Given the description of an element on the screen output the (x, y) to click on. 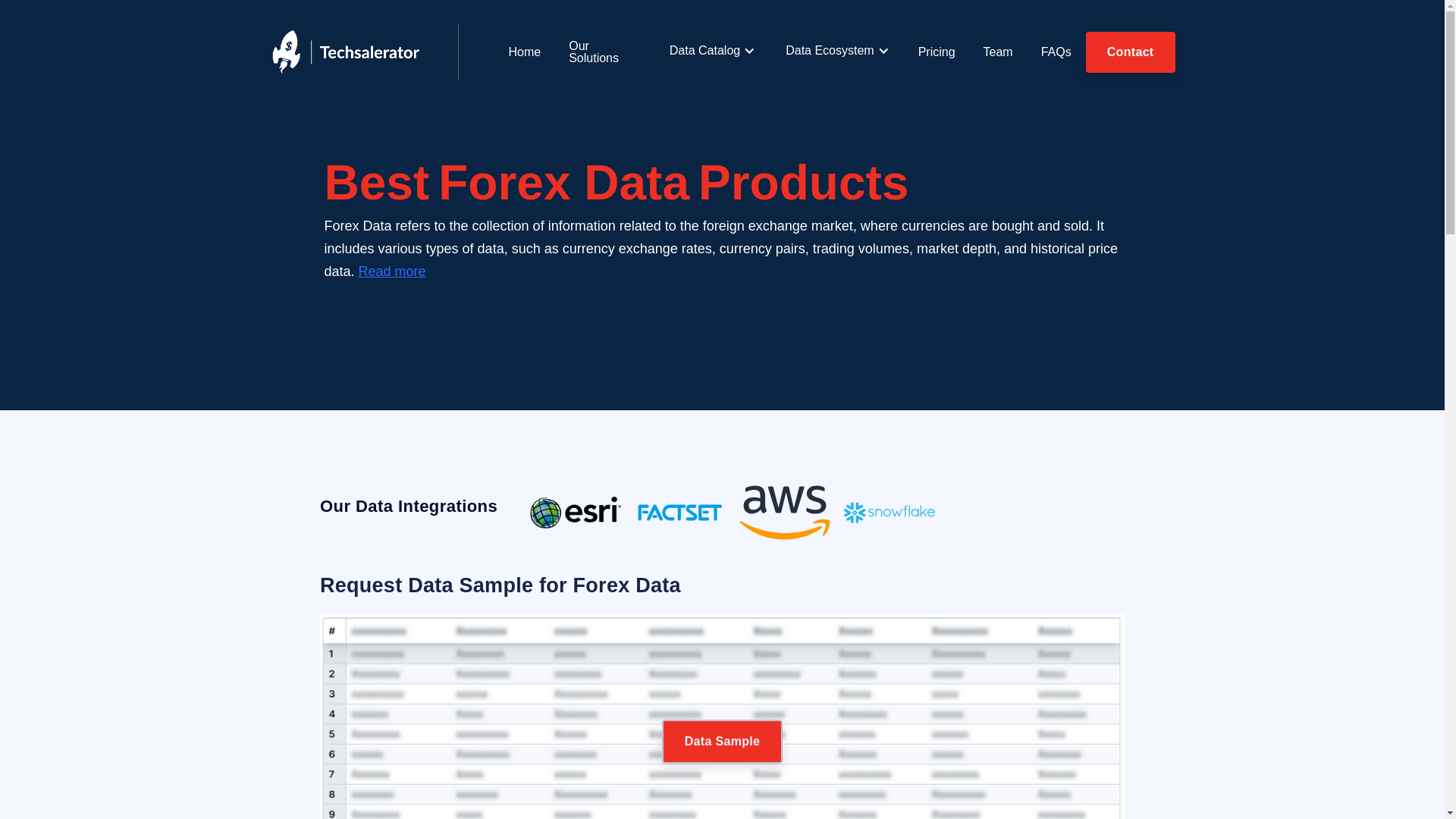
Team (998, 52)
Read more (392, 271)
Our Solutions (603, 52)
FAQs (1056, 52)
Data Sample (722, 741)
Contact (1130, 51)
Home (524, 52)
Pricing (936, 52)
